Given the description of an element on the screen output the (x, y) to click on. 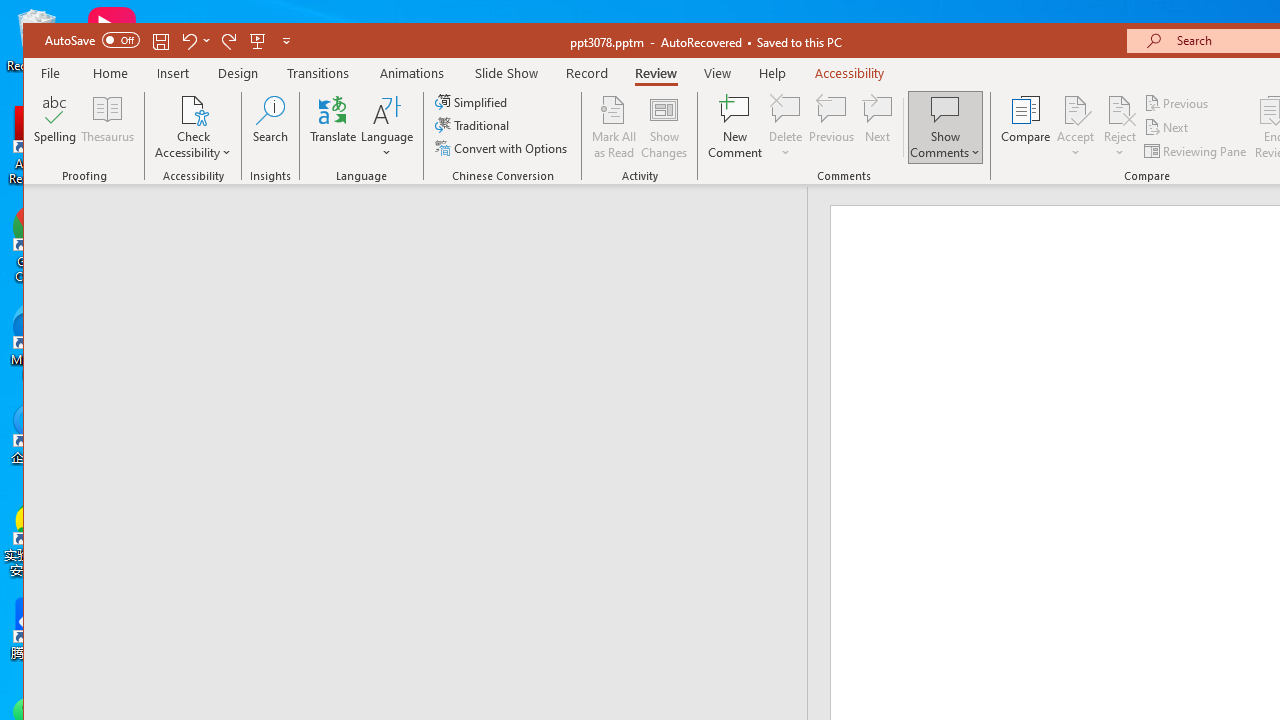
Mark All as Read (614, 127)
Reject Change (1119, 109)
New Comment (735, 127)
Compare (1025, 127)
Language (387, 127)
Show Changes (663, 127)
